Given the description of an element on the screen output the (x, y) to click on. 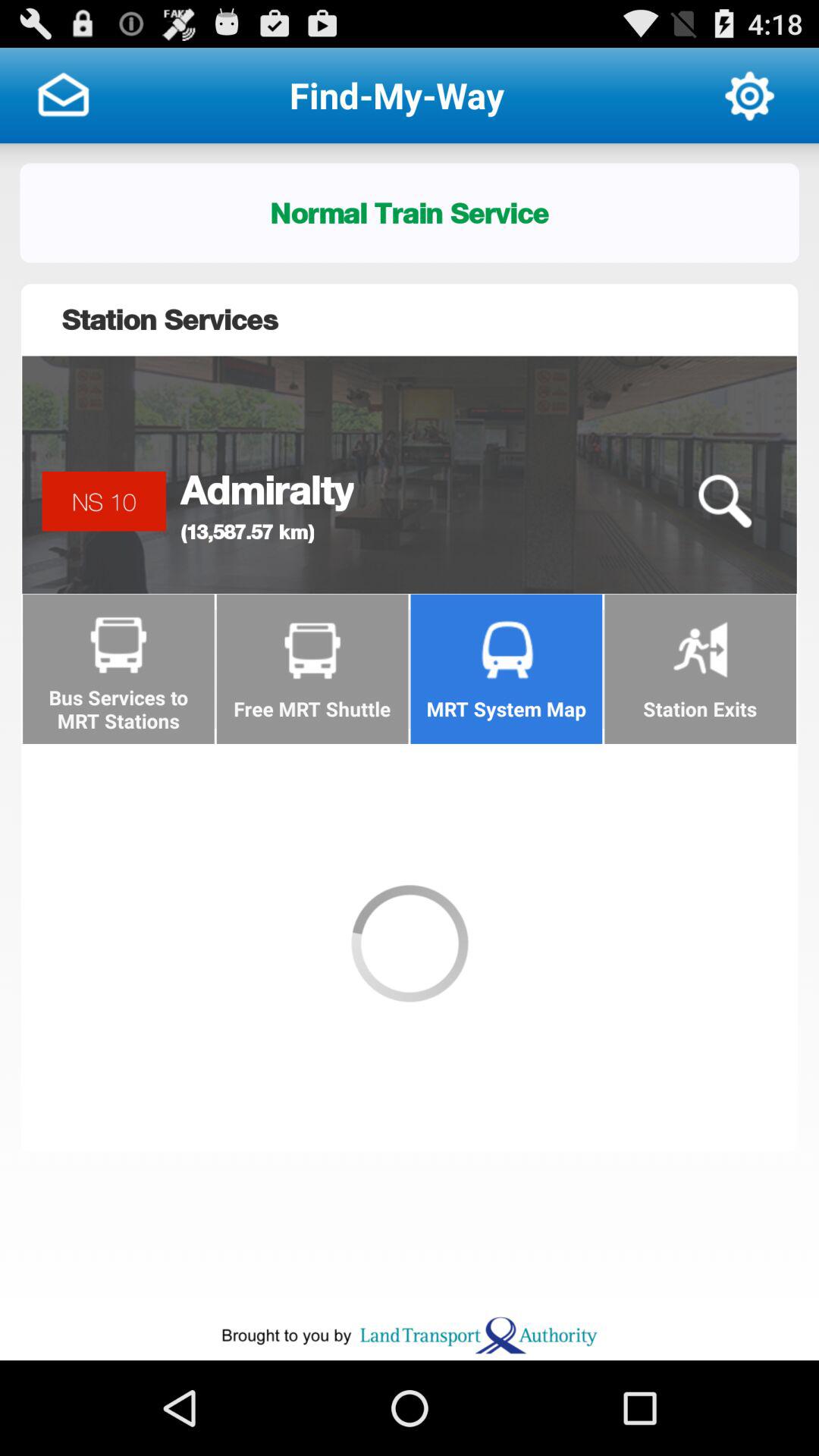
setting option (749, 95)
